Given the description of an element on the screen output the (x, y) to click on. 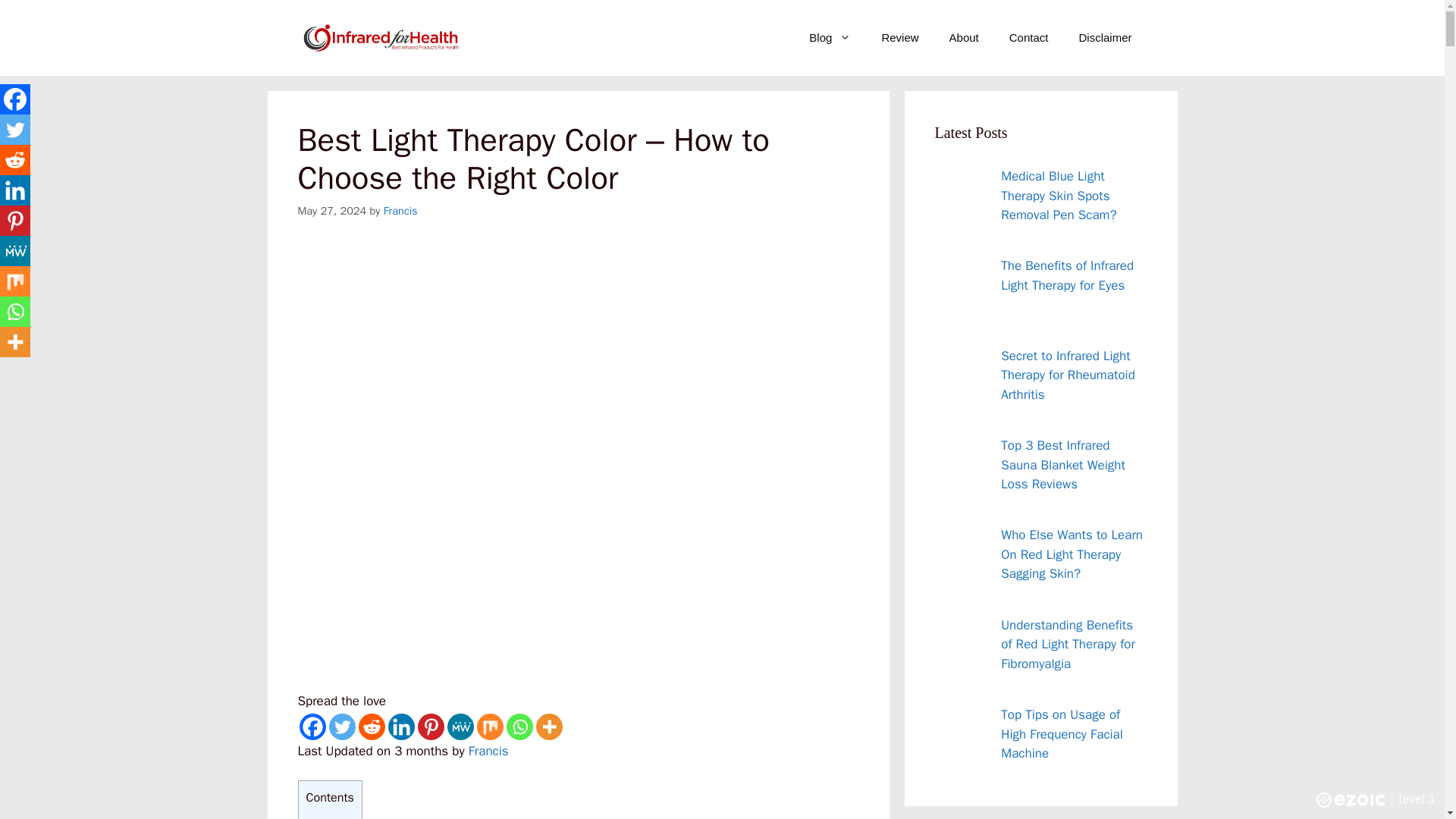
Francis (400, 210)
Disclaimer (1104, 37)
Francis (488, 750)
Twitter (342, 726)
Blog (829, 37)
About (964, 37)
Pinterest (430, 726)
Contact (1029, 37)
Review (899, 37)
Facebook (311, 726)
